Given the description of an element on the screen output the (x, y) to click on. 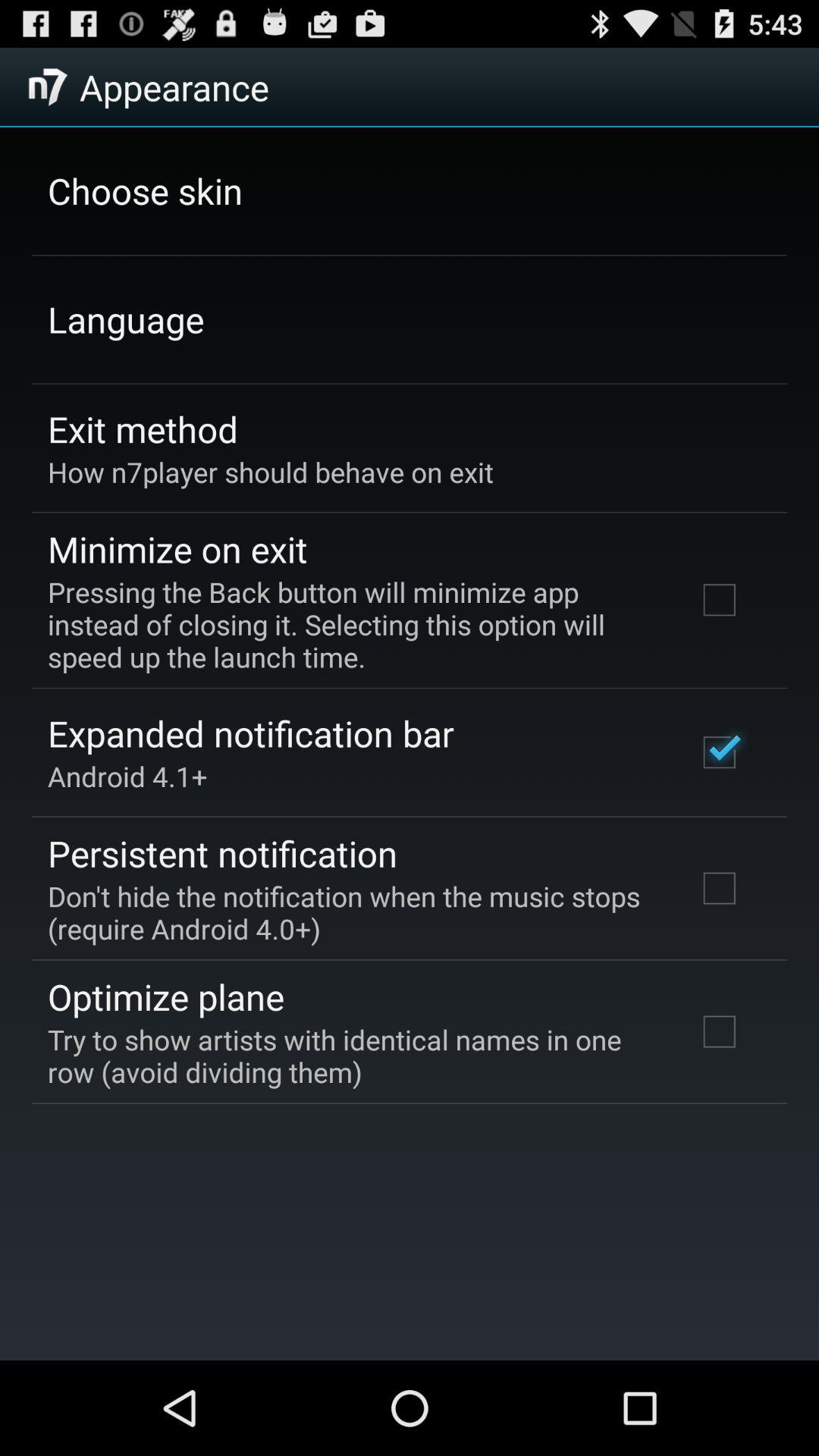
select the app above how n7player should icon (142, 428)
